Given the description of an element on the screen output the (x, y) to click on. 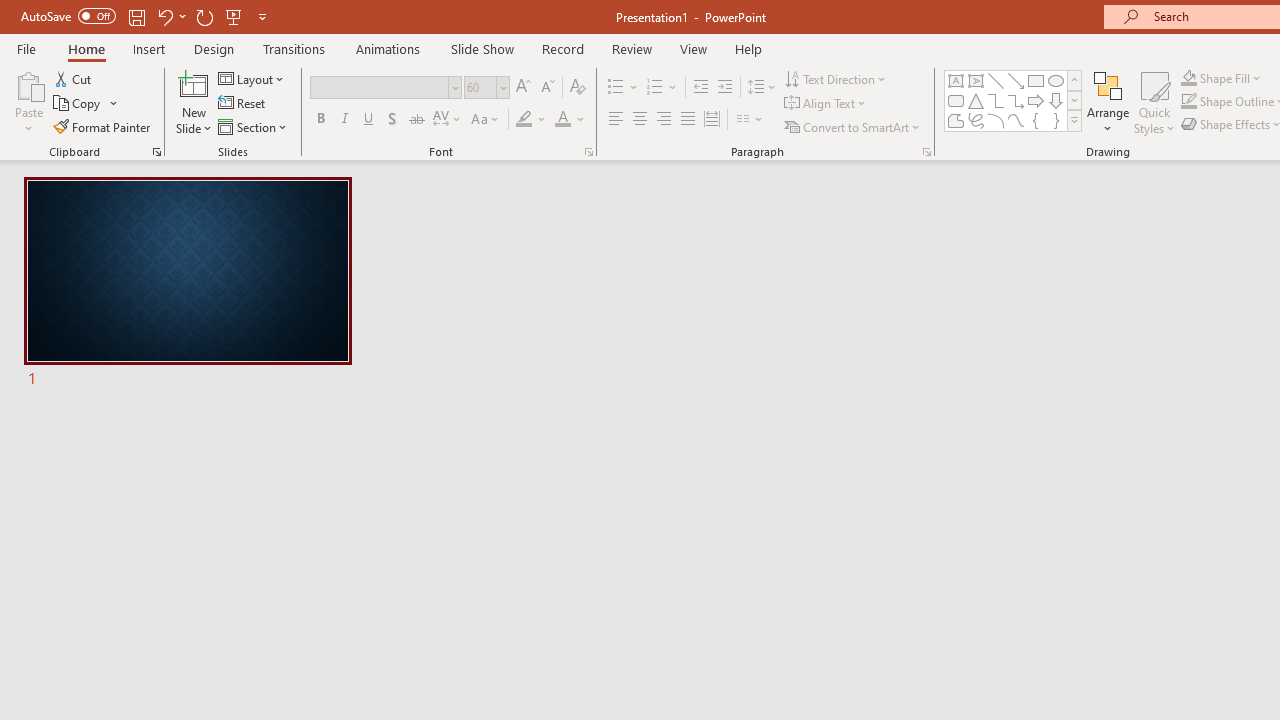
Bold (320, 119)
Clear Formatting (577, 87)
Section (254, 126)
Columns (750, 119)
Line Arrow (1016, 80)
Vertical Text Box (975, 80)
Quick Styles (1154, 102)
Shape Fill Orange, Accent 2 (1188, 78)
Format Painter (103, 126)
